Given the description of an element on the screen output the (x, y) to click on. 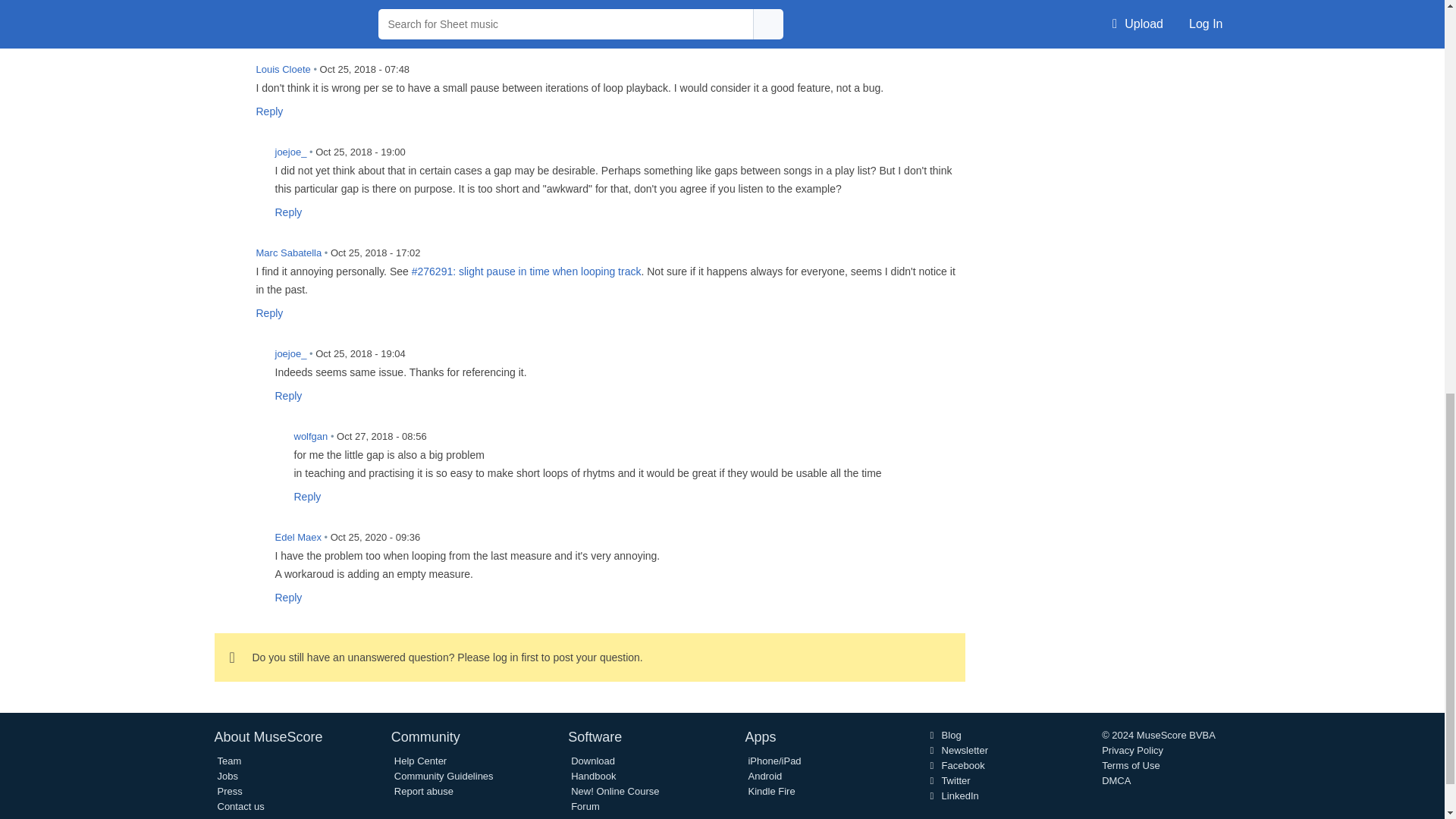
Status: active (527, 271)
Marc Sabatella (229, 262)
wolfgan (266, 445)
Louis Cloete (229, 78)
